Given the description of an element on the screen output the (x, y) to click on. 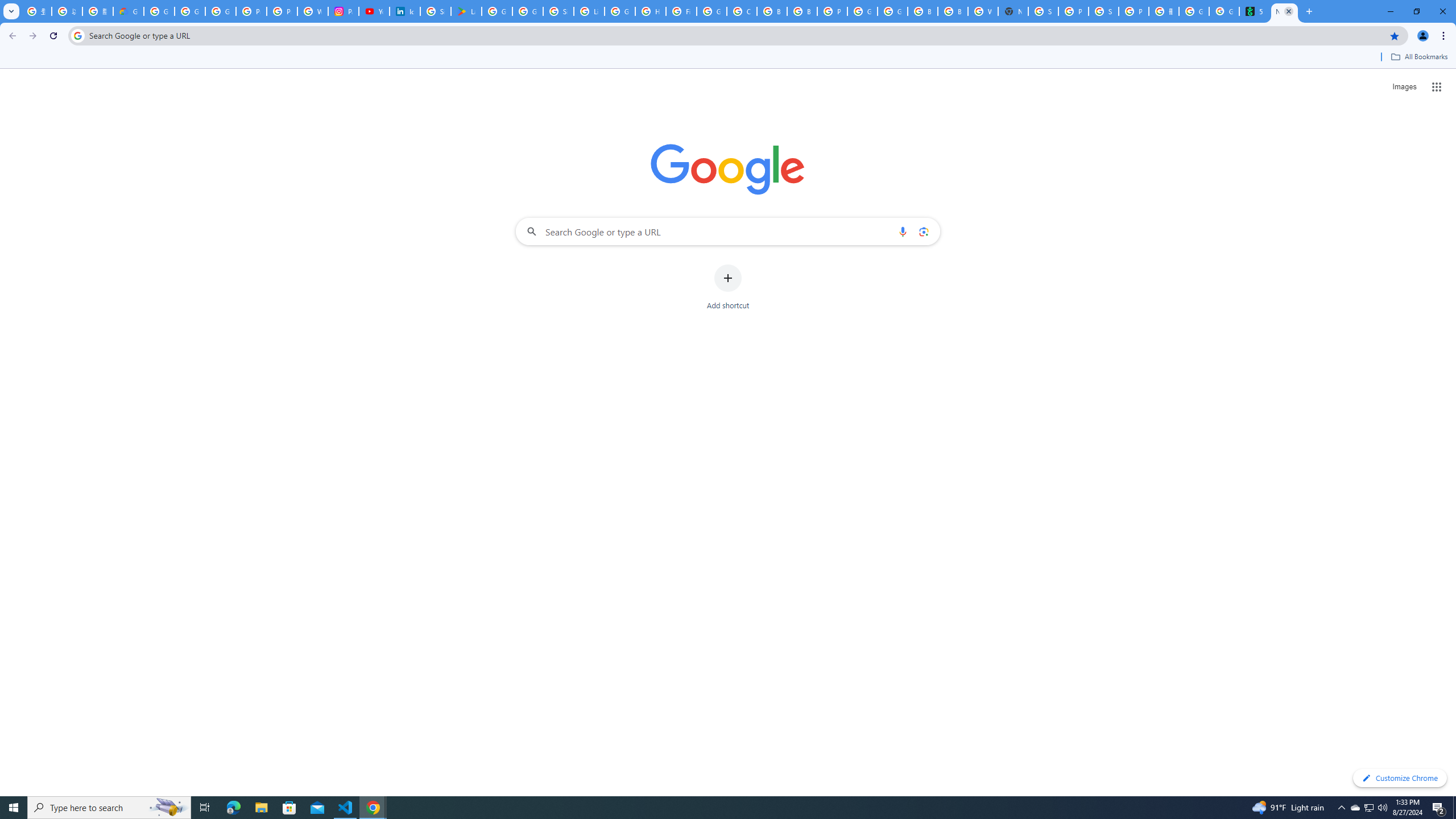
New Tab (1012, 11)
Google Cloud Platform (892, 11)
Search Google or type a URL (727, 230)
Browse Chrome as a guest - Computer - Google Chrome Help (922, 11)
Identity verification via Persona | LinkedIn Help (404, 11)
Customize Chrome (1399, 778)
Privacy Help Center - Policies Help (282, 11)
